Given the description of an element on the screen output the (x, y) to click on. 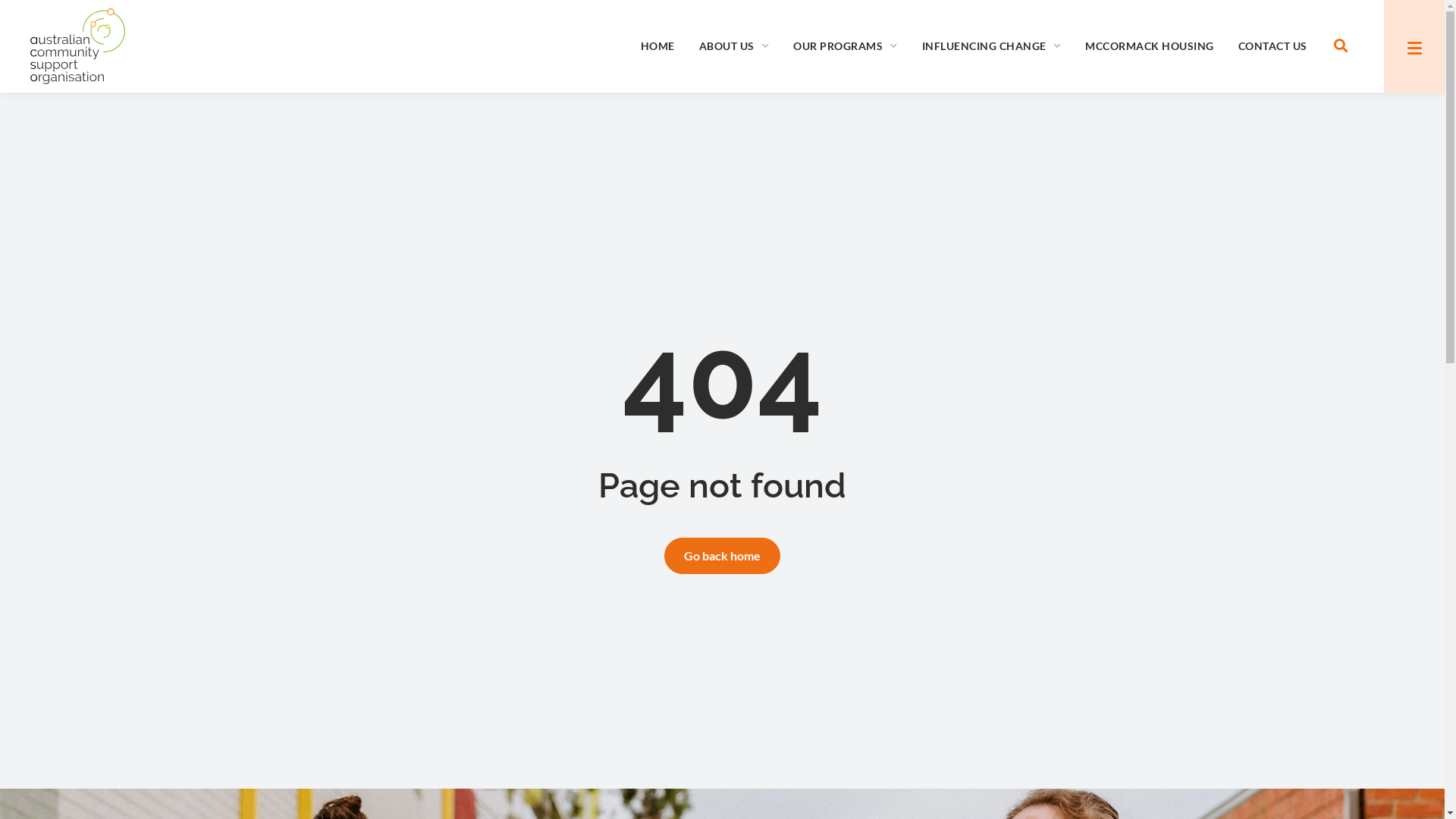
MCCORMACK HOUSING Element type: text (1149, 46)
OUR PROGRAMS Element type: text (845, 46)
HOME Element type: text (657, 46)
CONTACT US Element type: text (1272, 46)
ABOUT US Element type: text (734, 46)
INFLUENCING CHANGE Element type: text (991, 46)
Go back home Element type: text (722, 555)
